Given the description of an element on the screen output the (x, y) to click on. 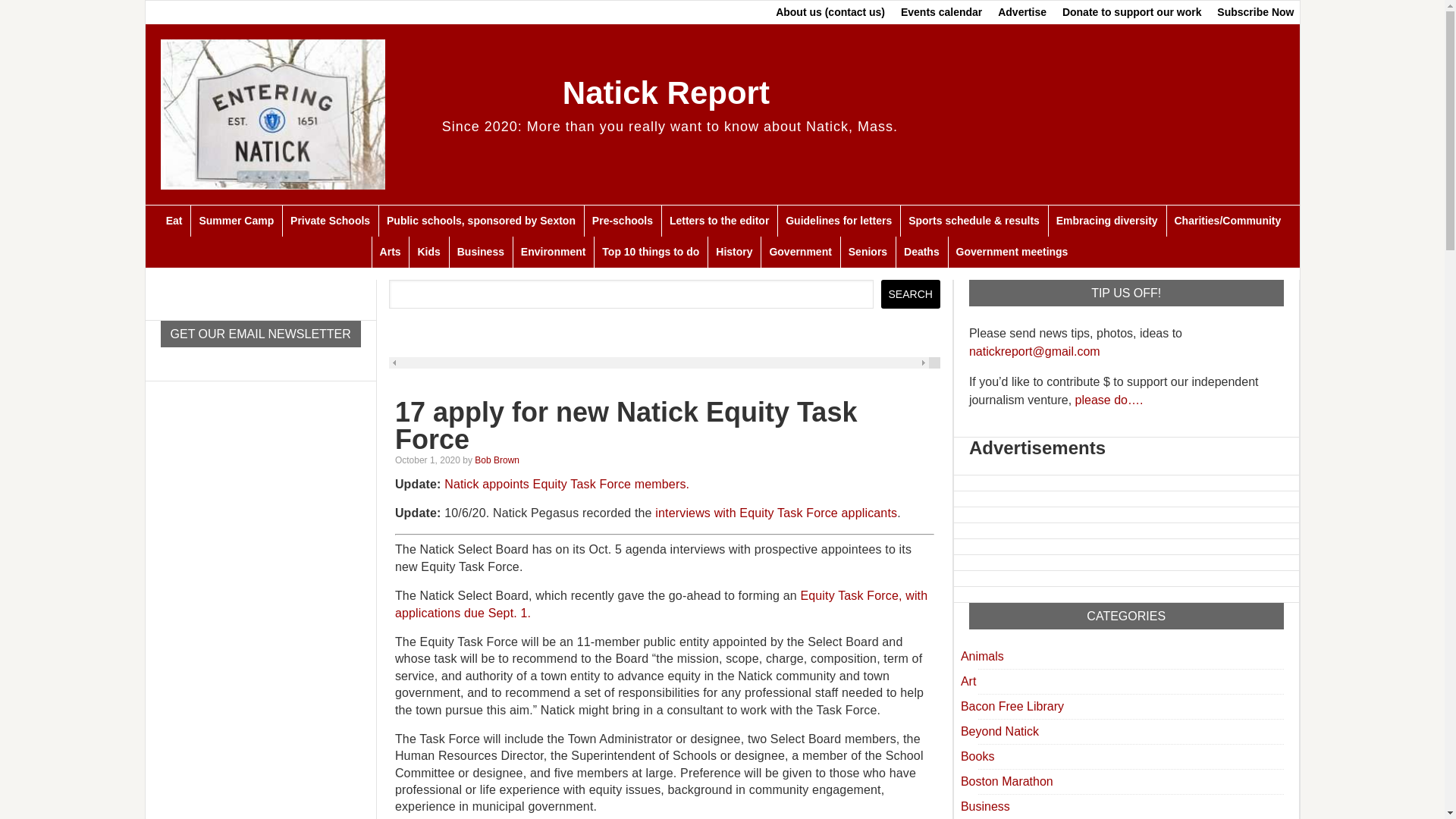
SEARCH (910, 294)
Natick appoints Equity Task Force members. (566, 483)
Animals (982, 656)
Equity Task Force, with applications due Sept. 1. (660, 603)
Natick Report (666, 92)
Environment (553, 251)
Summer Camp (235, 220)
Letters to the editor (718, 220)
Advertise (1022, 12)
Art (967, 680)
Events calendar (941, 12)
interviews with Equity Task Force applicants (775, 512)
Seniors (867, 251)
Bob Brown (496, 460)
Arts (390, 251)
